Given the description of an element on the screen output the (x, y) to click on. 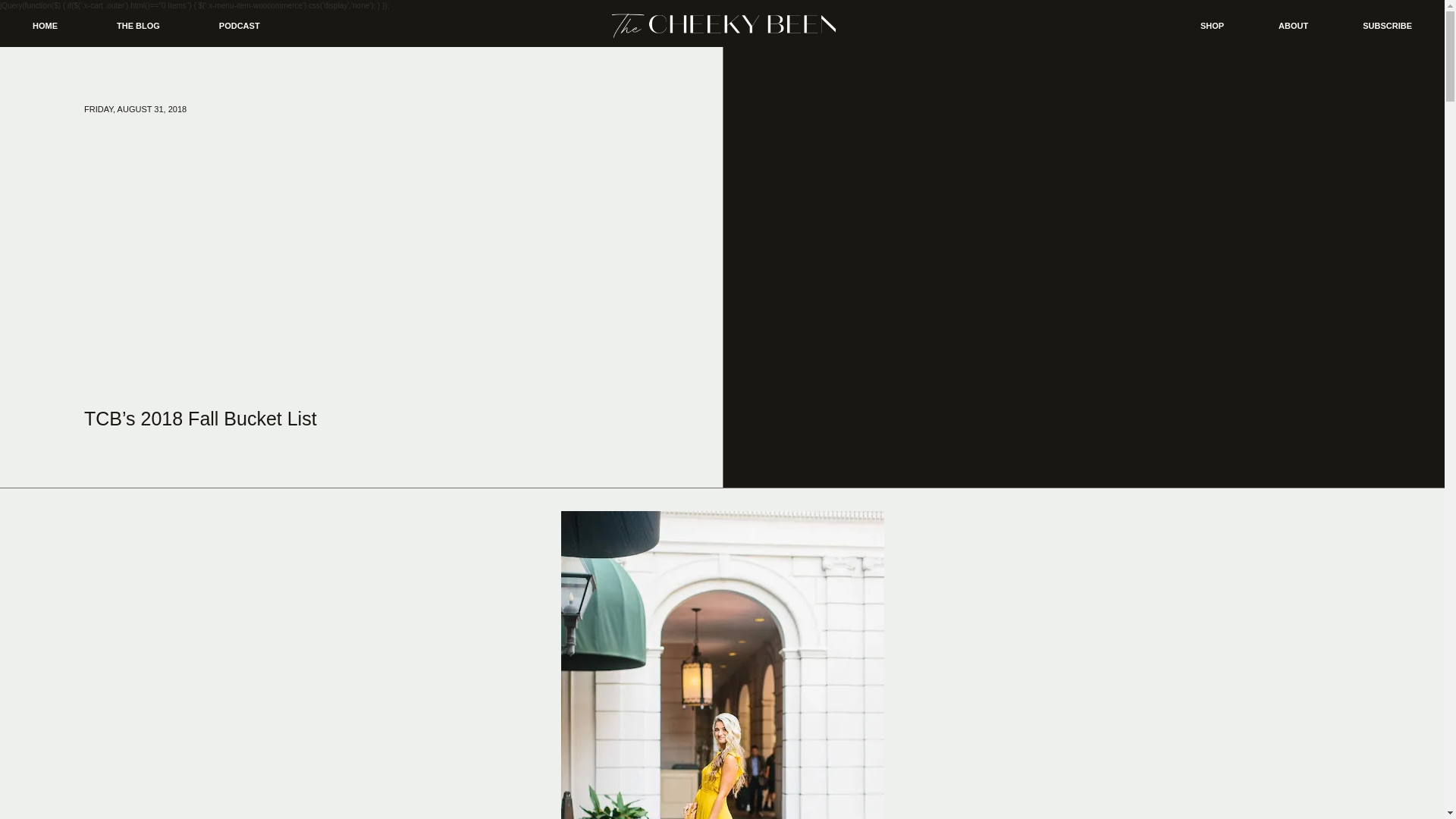
THE BLOG (138, 26)
SUBSCRIBE (1387, 26)
HOME (45, 26)
SHOP (1211, 26)
FRIDAY, AUGUST 31, 2018 (135, 109)
PODCAST (239, 26)
ABOUT (1292, 26)
